Given the description of an element on the screen output the (x, y) to click on. 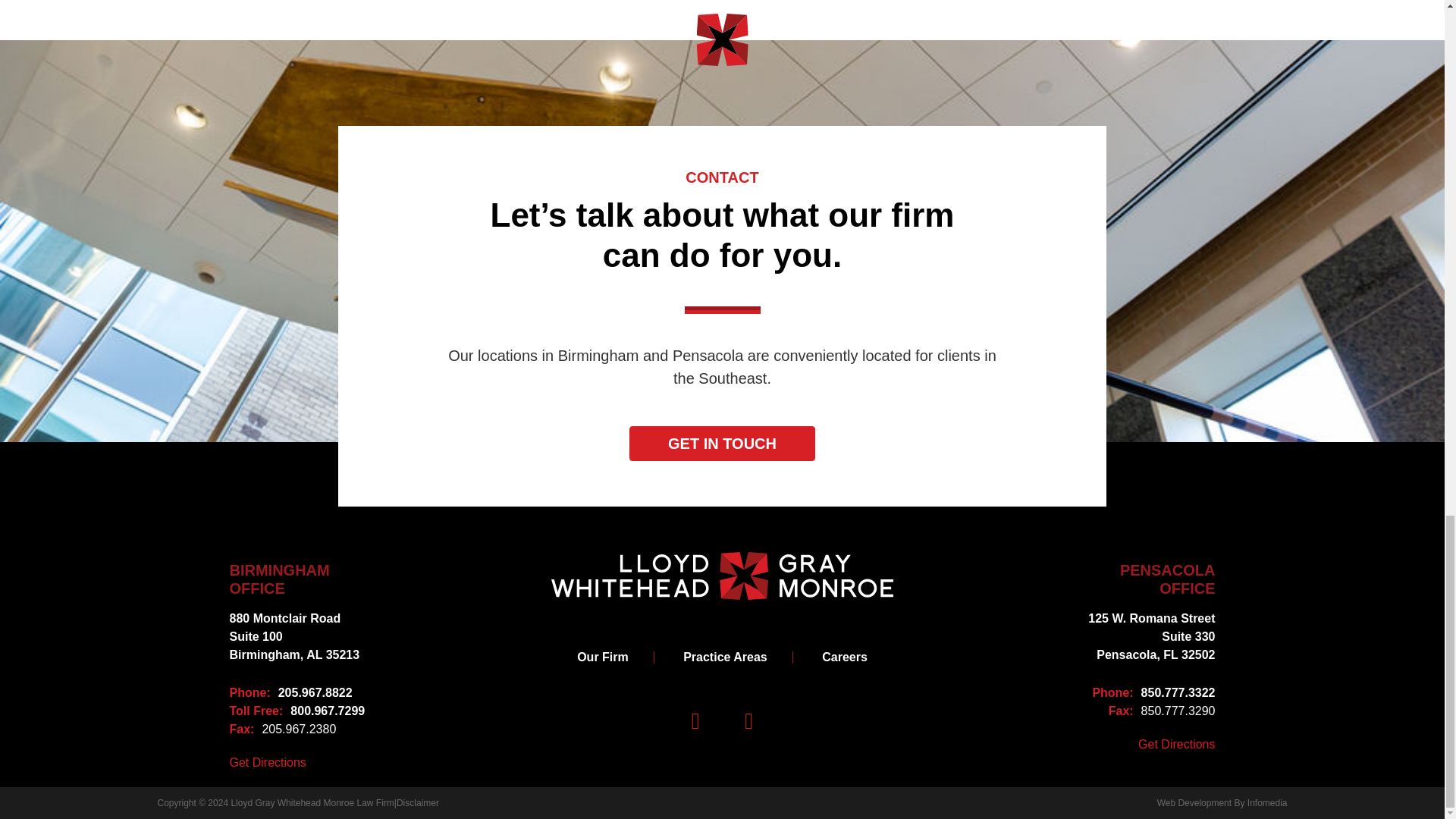
Get Directions (1176, 744)
800.967.7299 (300, 710)
205.967.8822 (300, 692)
Lloyd Gray Whitehead Monroe Law Firm (1142, 636)
Our Firm (311, 802)
850.777.3322 (603, 657)
Disclaimer (1142, 692)
Careers (417, 802)
PENSACOLA OFFICE (844, 657)
Get Directions (1142, 579)
GET IN TOUCH (300, 636)
Infomedia (266, 762)
Practice Areas (721, 443)
